Given the description of an element on the screen output the (x, y) to click on. 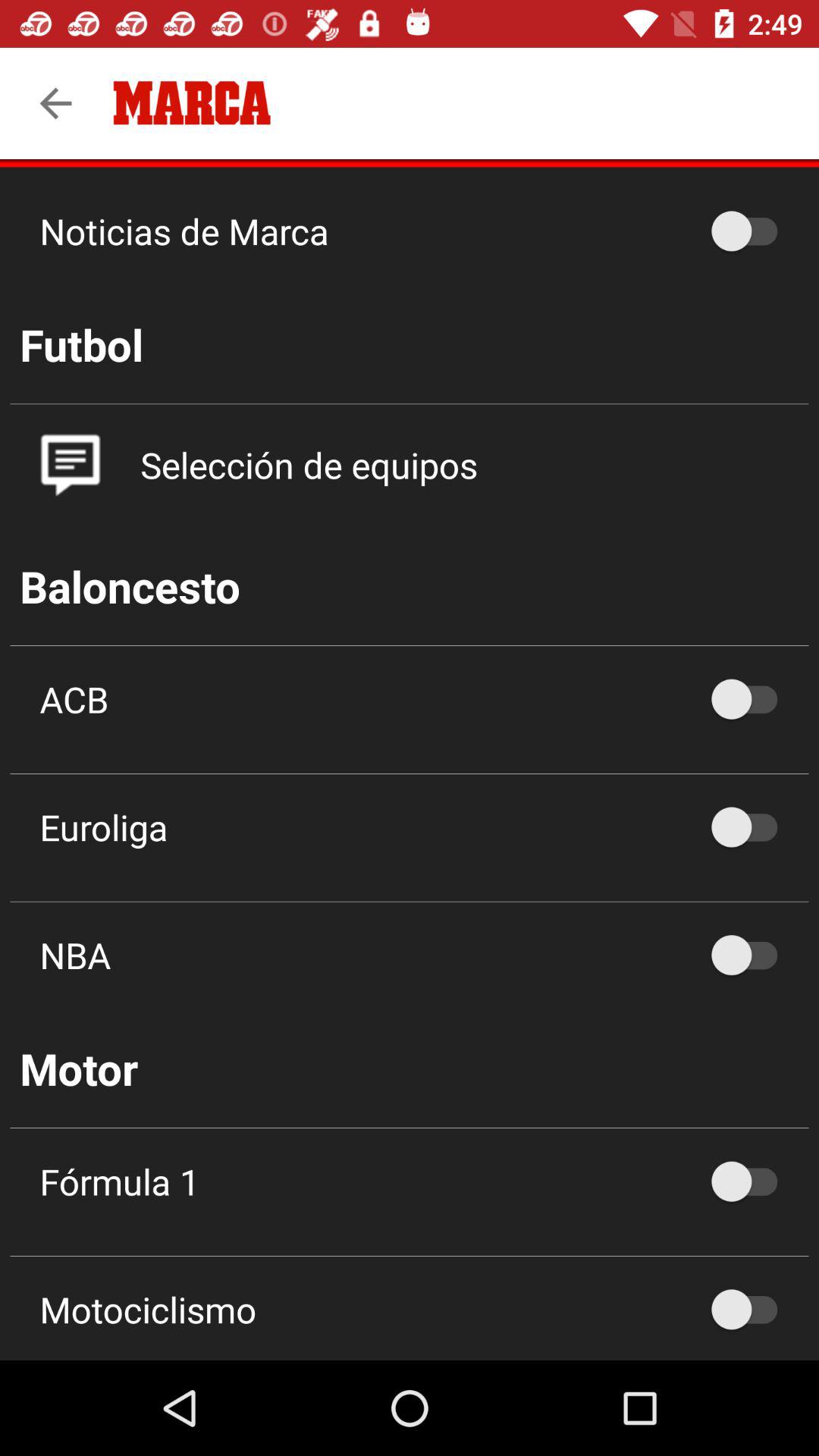
go to off option (751, 1181)
